Given the description of an element on the screen output the (x, y) to click on. 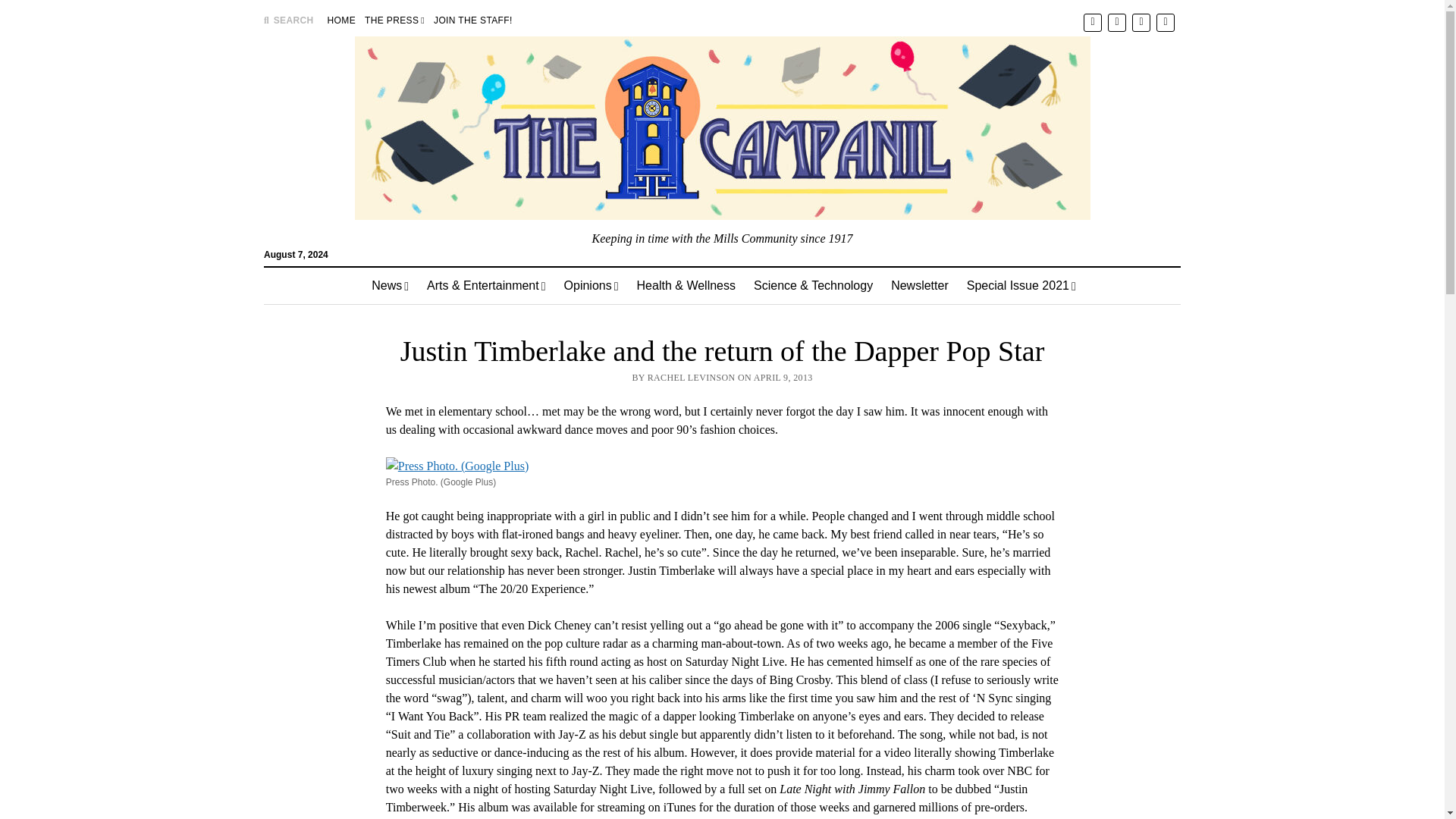
Special Issue 2021 (1021, 285)
HOME (341, 20)
Newsletter (920, 285)
SEARCH (288, 20)
THE PRESS (395, 20)
Search (945, 129)
Opinions (590, 285)
JOIN THE STAFF! (472, 20)
News (389, 285)
